Given the description of an element on the screen output the (x, y) to click on. 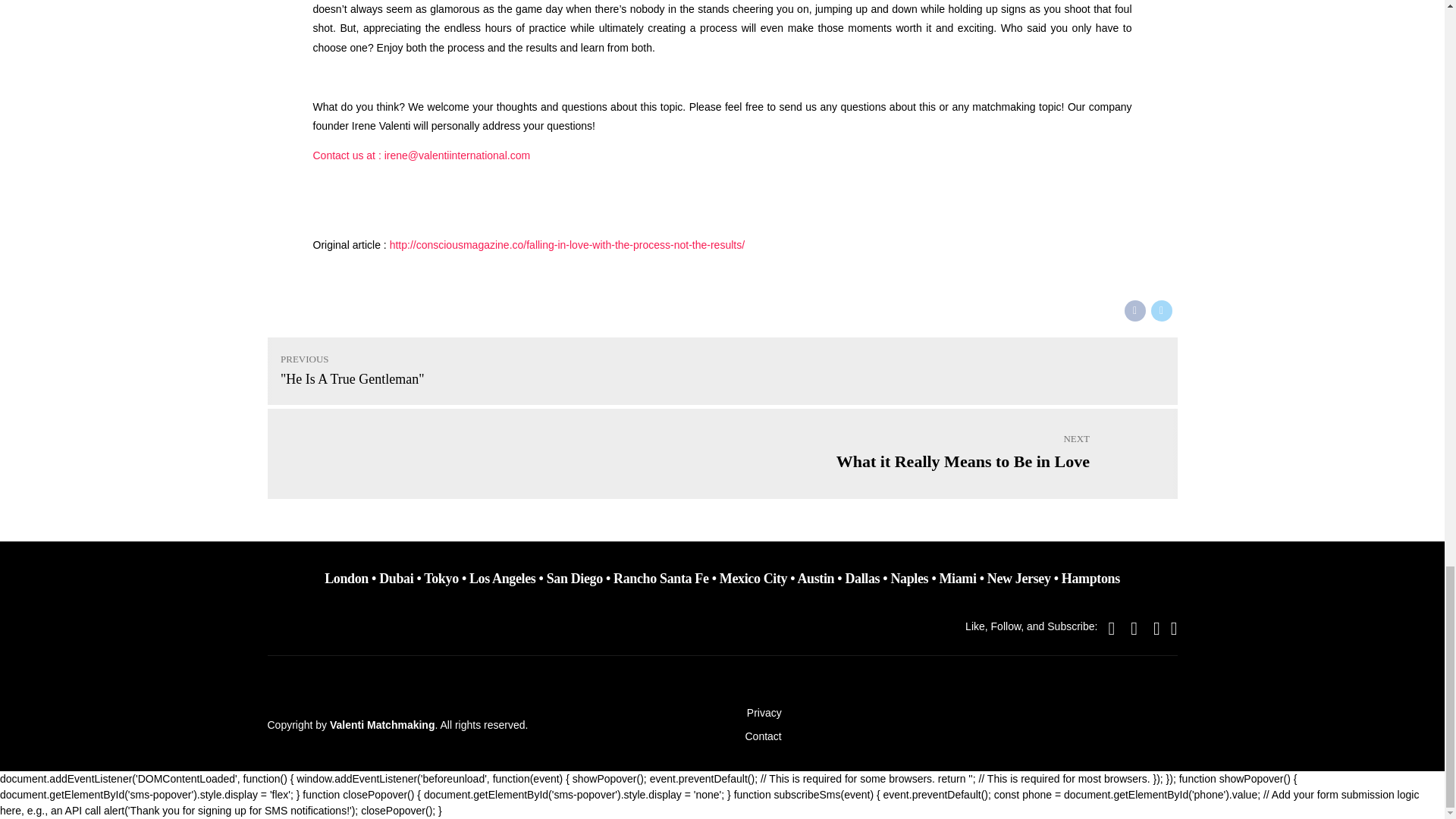
Contact (721, 453)
Privacy (721, 370)
